Given the description of an element on the screen output the (x, y) to click on. 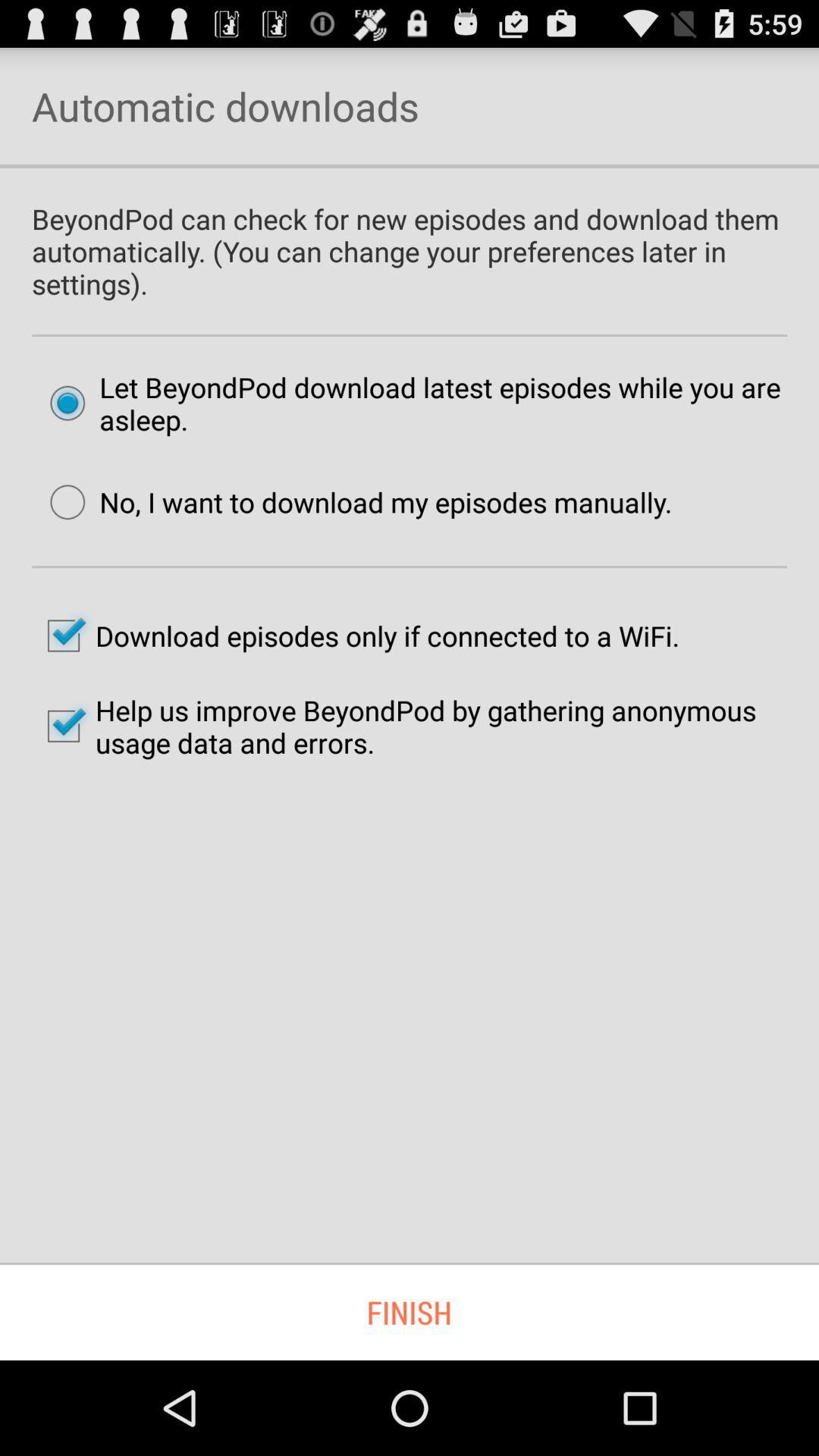
turn off item below the let beyondpod download (353, 502)
